Given the description of an element on the screen output the (x, y) to click on. 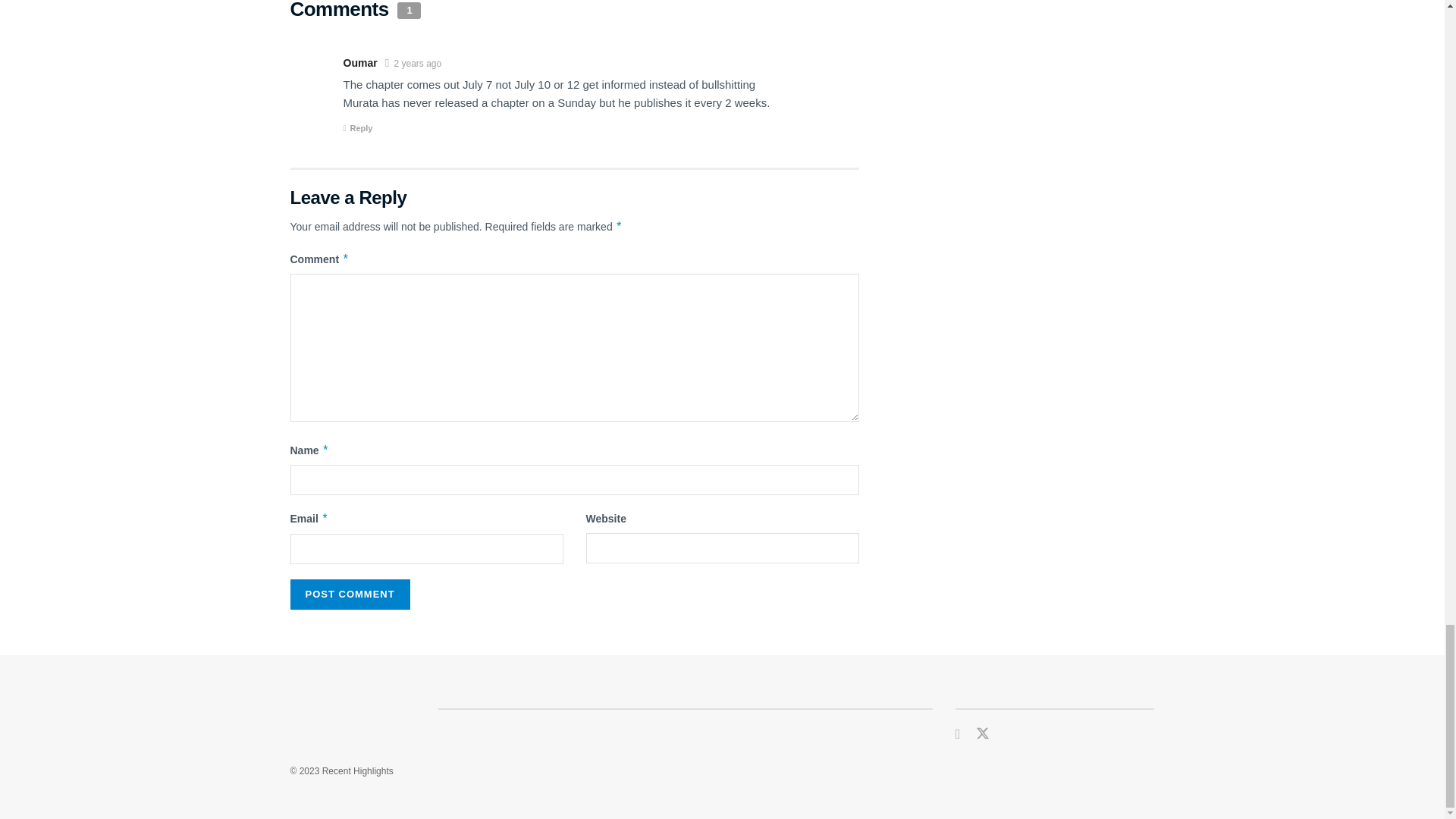
Post Comment (349, 594)
